Given the description of an element on the screen output the (x, y) to click on. 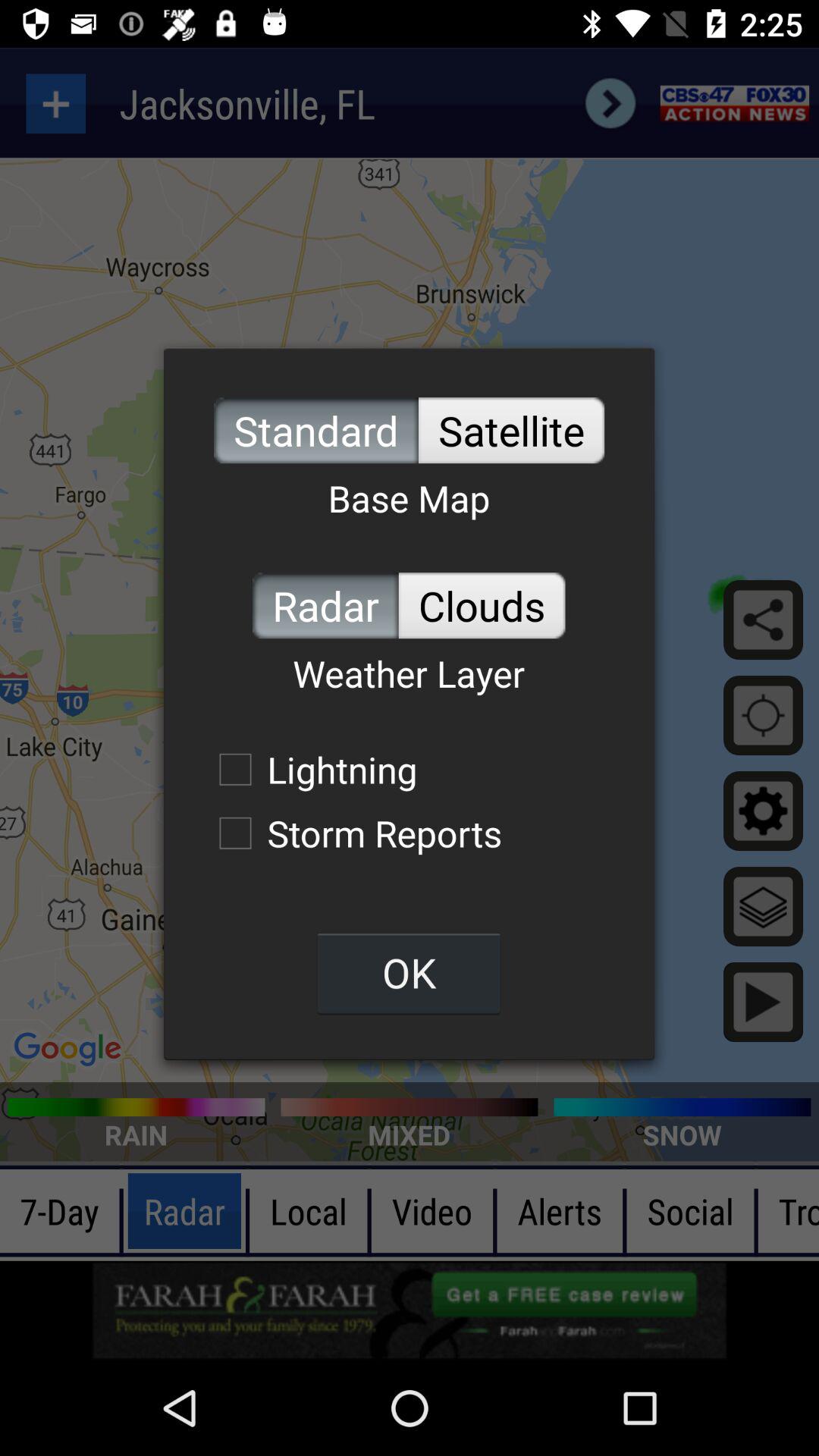
turn off lightning icon (310, 769)
